Given the description of an element on the screen output the (x, y) to click on. 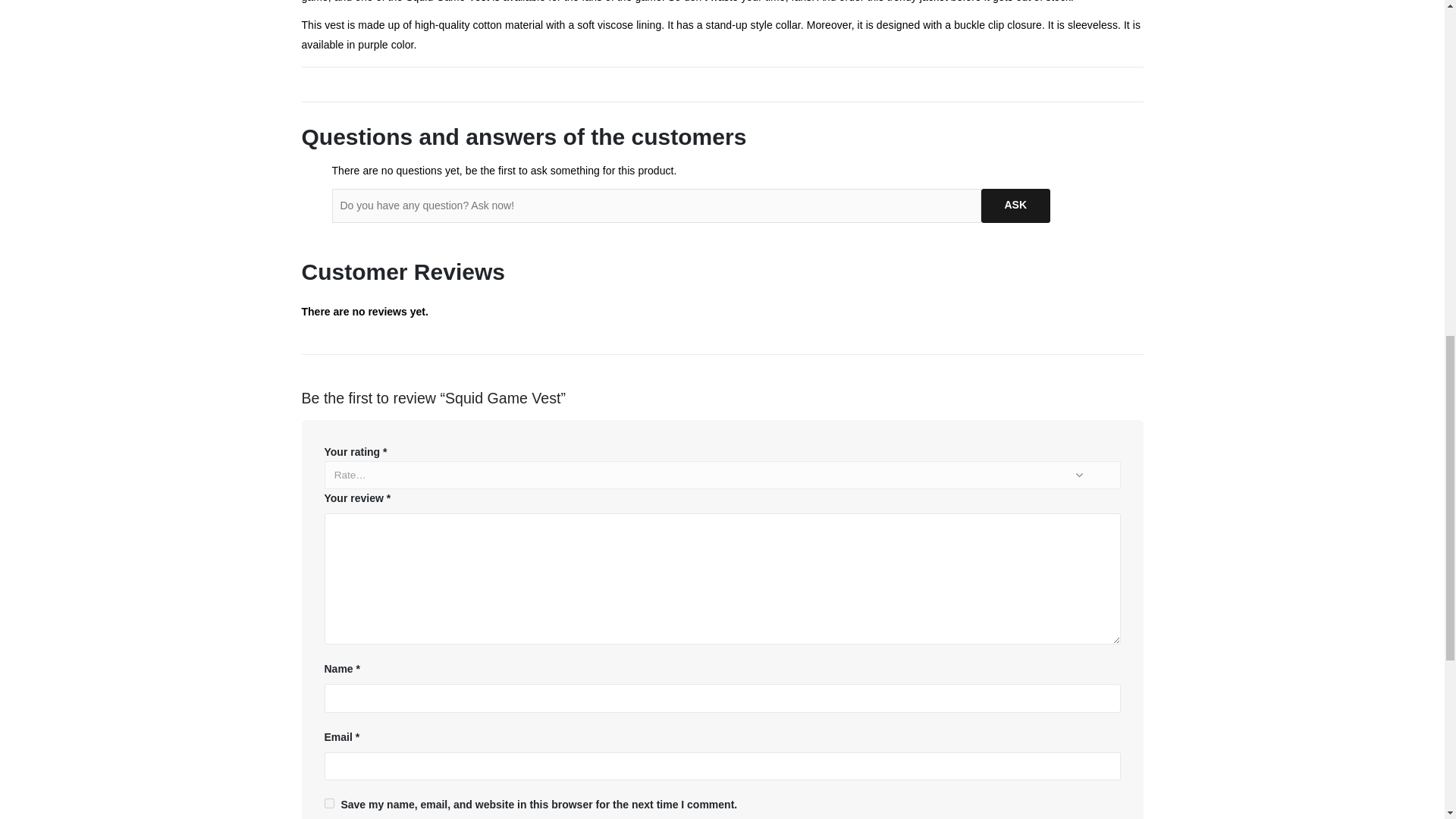
yes (329, 803)
Ask (1016, 205)
Ask your question (1016, 205)
Ask (1016, 205)
